Given the description of an element on the screen output the (x, y) to click on. 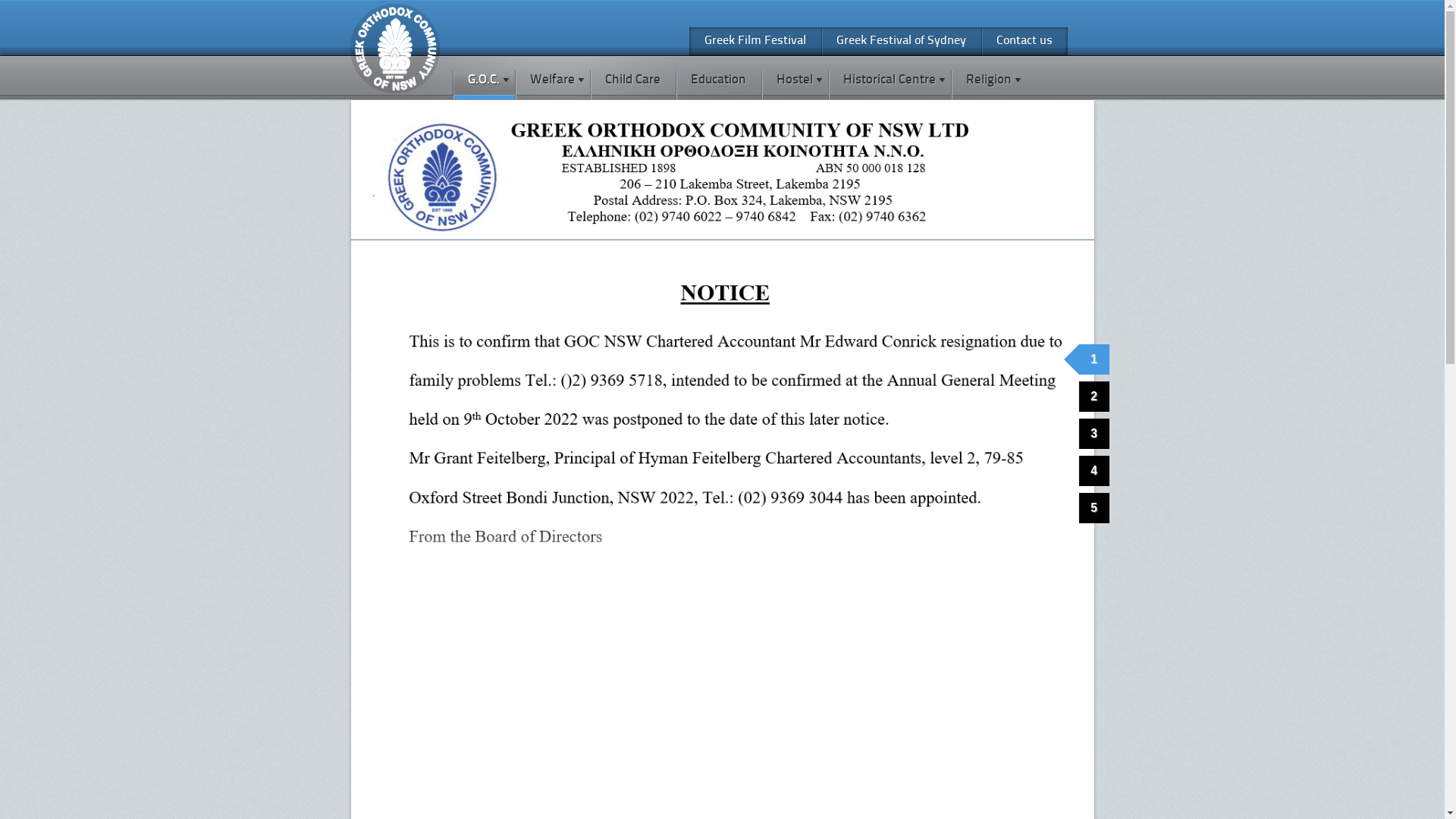
Greek Festival of Sydney Element type: text (900, 41)
Contact us Element type: text (1024, 41)
G.O.C. Element type: text (482, 77)
Welfare Element type: text (551, 77)
Historical Centre Element type: text (889, 77)
Child Care Element type: text (632, 77)
Education Element type: text (717, 77)
Religion Element type: text (988, 77)
Hostel Element type: text (794, 77)
Greek Film Festival Element type: text (754, 41)
